Given the description of an element on the screen output the (x, y) to click on. 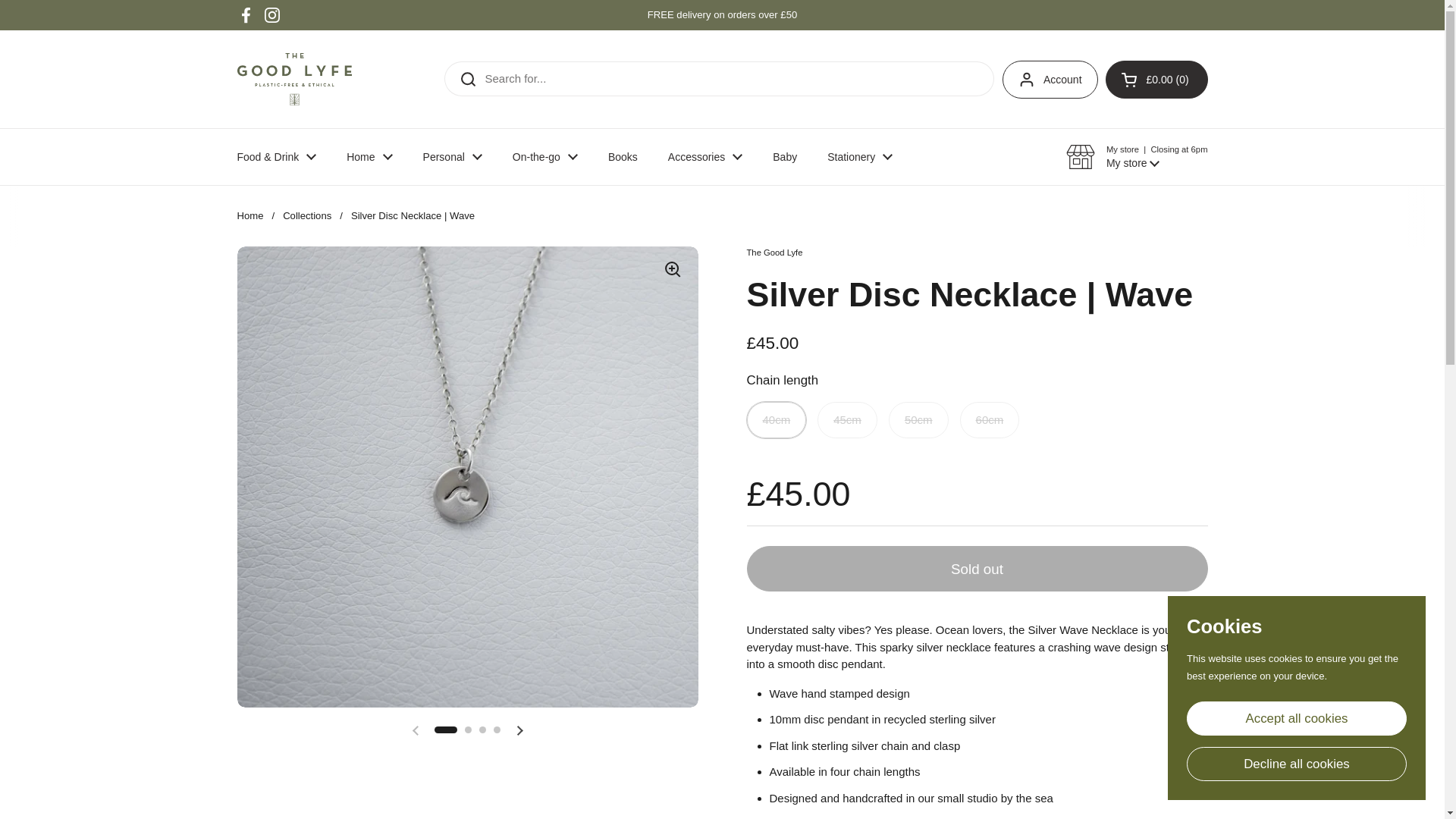
Facebook (244, 14)
Home (369, 156)
Account (1050, 79)
Personal (452, 156)
Open cart (1156, 79)
The Good Lyfe (293, 79)
Home (369, 156)
Instagram (271, 14)
